Given the description of an element on the screen output the (x, y) to click on. 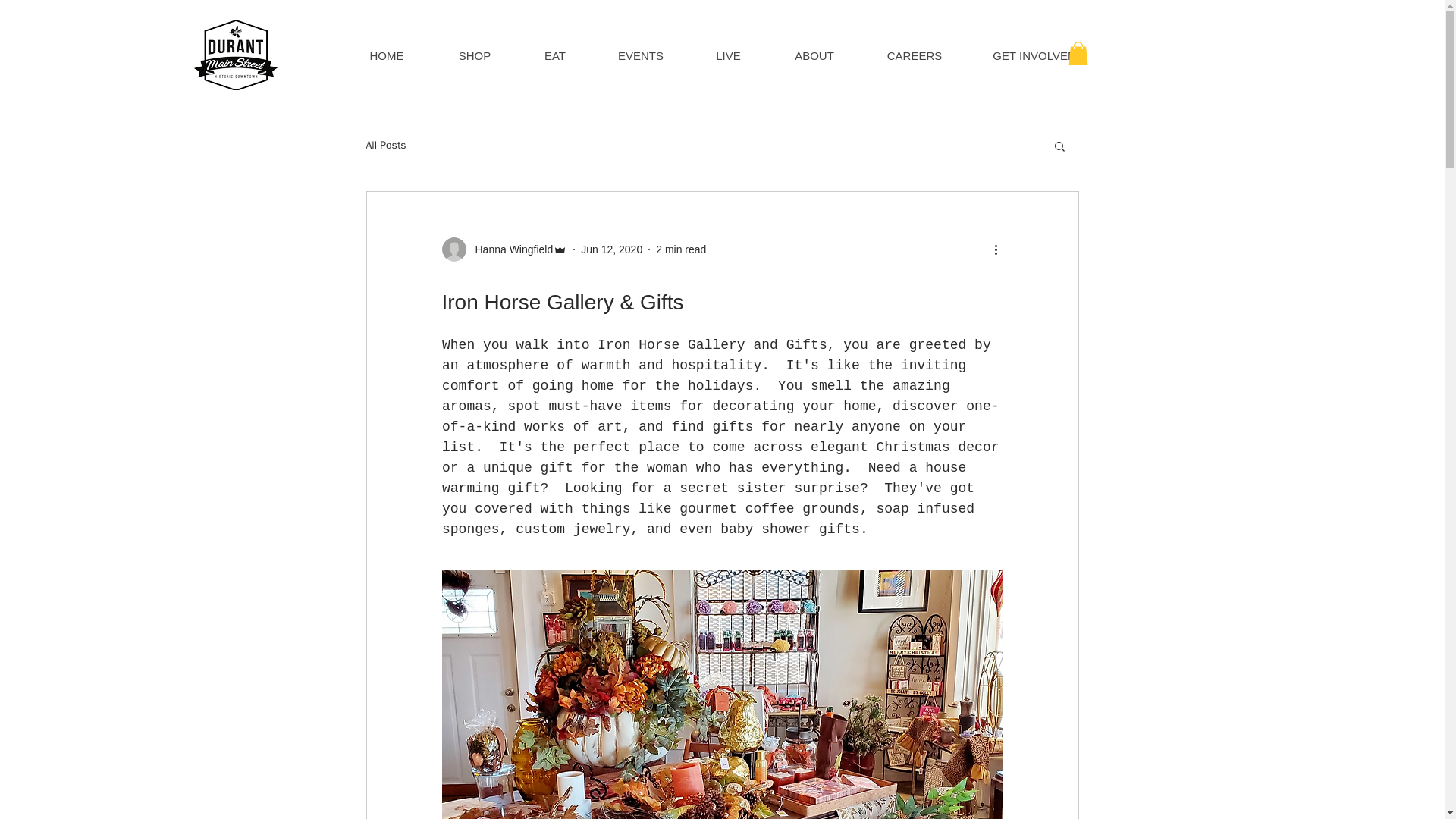
Hanna Wingfield (509, 249)
EAT (553, 55)
Hanna Wingfield (504, 249)
All Posts (385, 145)
GET INVOLVED (1034, 55)
SHOP (473, 55)
EVENTS (639, 55)
HOME (386, 55)
LIVE (727, 55)
CAREERS (914, 55)
Jun 12, 2020 (611, 249)
ABOUT (814, 55)
2 min read (681, 249)
